Given the description of an element on the screen output the (x, y) to click on. 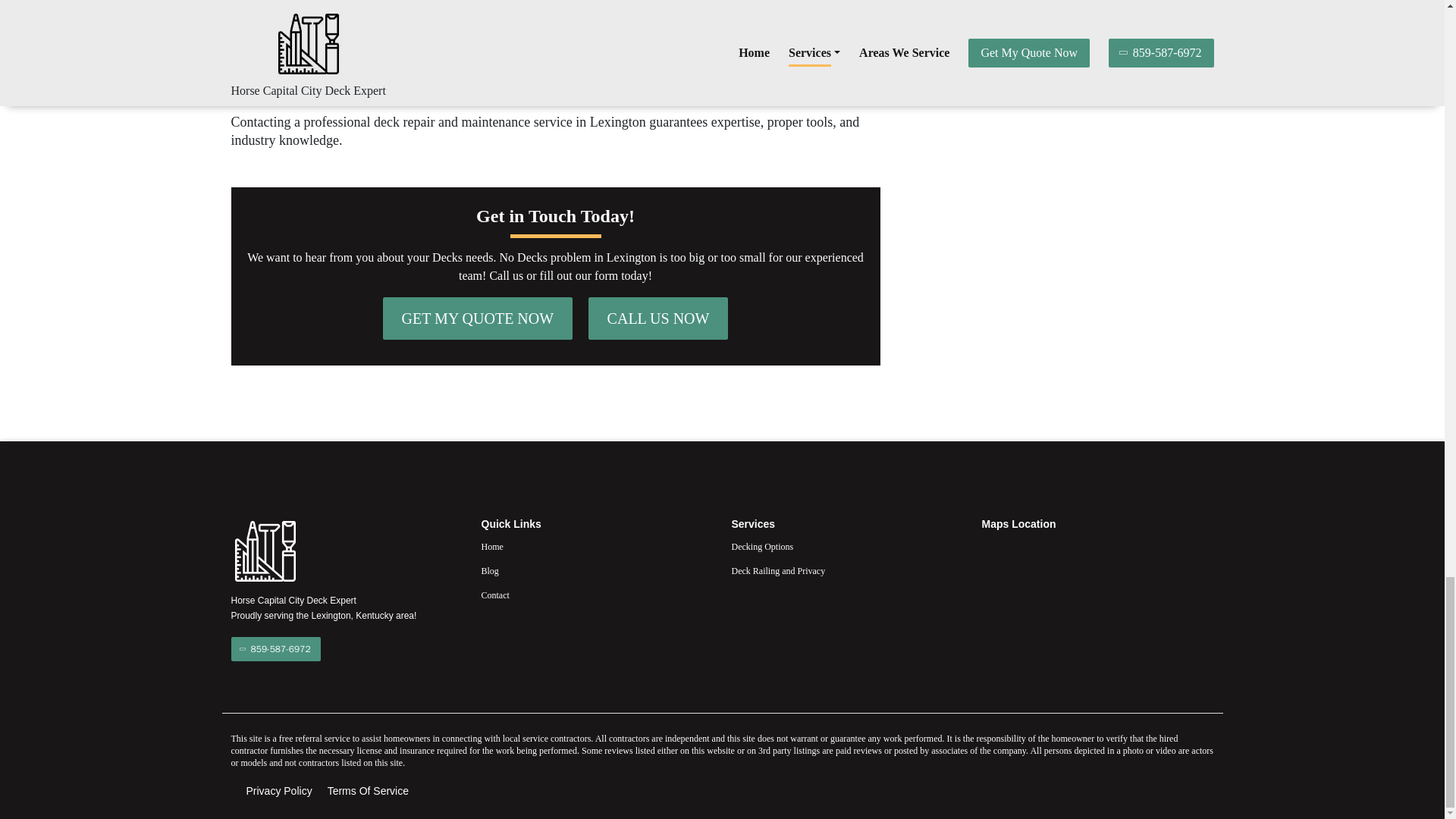
Terms Of Service (368, 791)
CALL US NOW (658, 318)
Decking Options (846, 546)
Blog (596, 570)
Deck Railing and Privacy (846, 570)
Home (596, 546)
Privacy Policy (278, 791)
Contact (596, 595)
859-587-6972 (275, 648)
GET MY QUOTE NOW (477, 318)
